Given the description of an element on the screen output the (x, y) to click on. 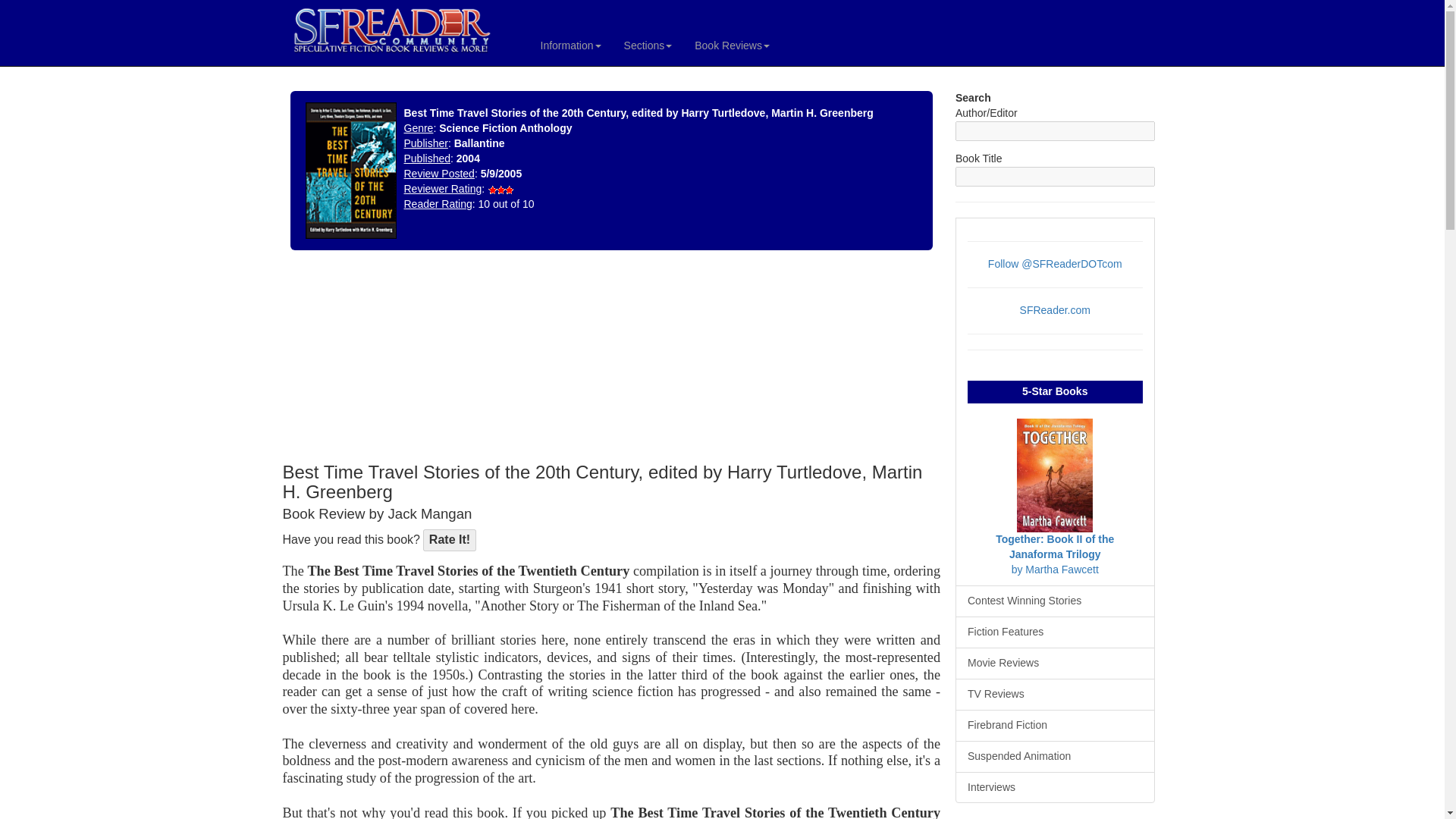
sfreader fiction feature stories (1054, 632)
Information (570, 45)
sfreader movie reviews (1054, 663)
SFReader Firebrand Fiction archives (1054, 726)
SFReader author interview archives (1054, 787)
Suspended Animation comic review archives (1054, 757)
Book Reviews (731, 45)
sfreader annual story contest winners (1054, 601)
SFReader TV show reviews (1054, 694)
Sections (648, 45)
